Given the description of an element on the screen output the (x, y) to click on. 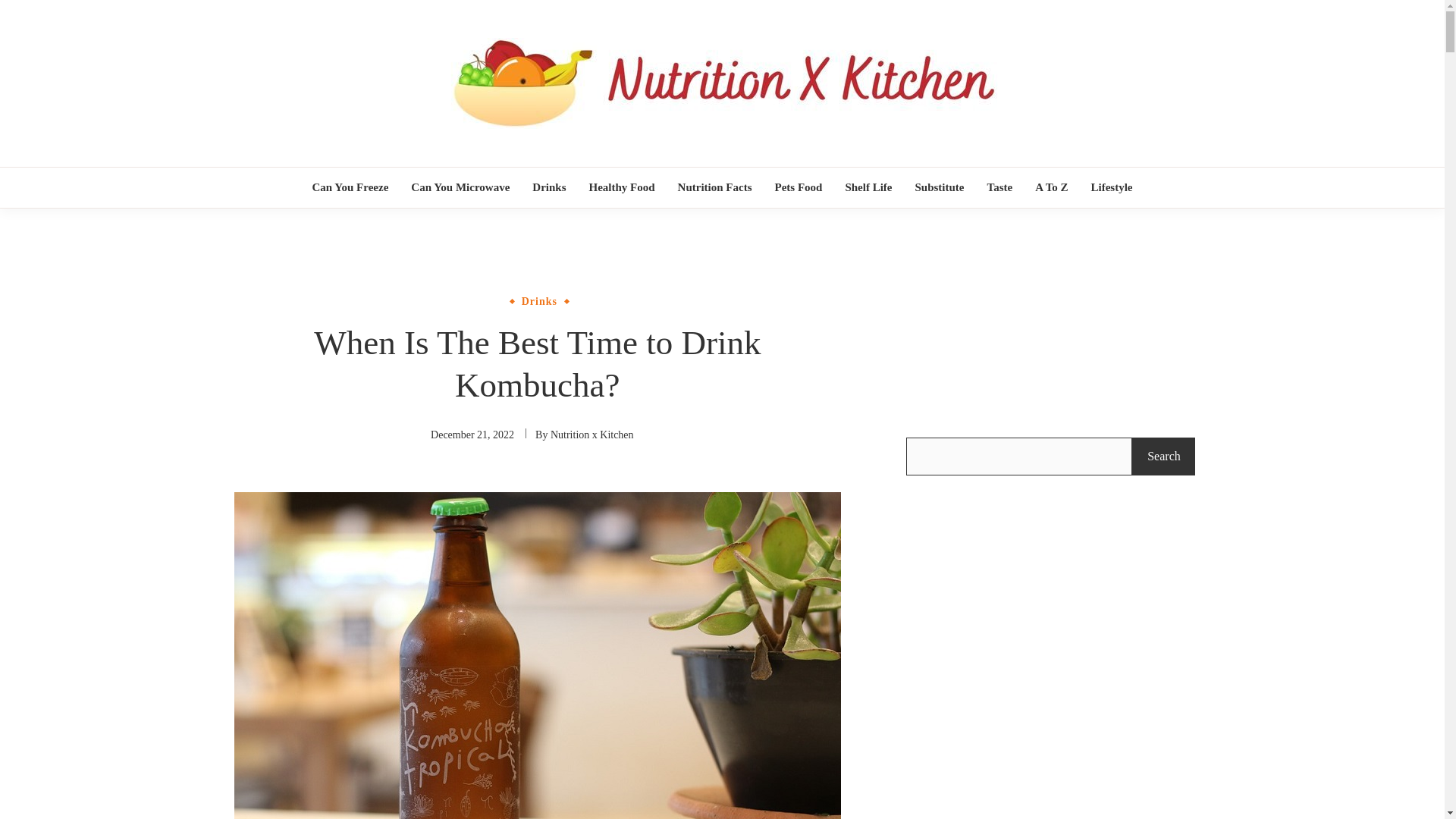
Pets Food (797, 187)
Can You Freeze (349, 187)
NUTRITION X KITCHEN (772, 167)
Substitute (939, 187)
Drinks (539, 300)
Drinks (548, 187)
Taste (1000, 187)
Healthy Food (621, 187)
Nutrition x Kitchen (591, 434)
Shelf Life (868, 187)
December 21, 2022 (471, 434)
Lifestyle (1112, 187)
Nutrition Facts (714, 187)
A To Z (1050, 187)
Can You Microwave (460, 187)
